Given the description of an element on the screen output the (x, y) to click on. 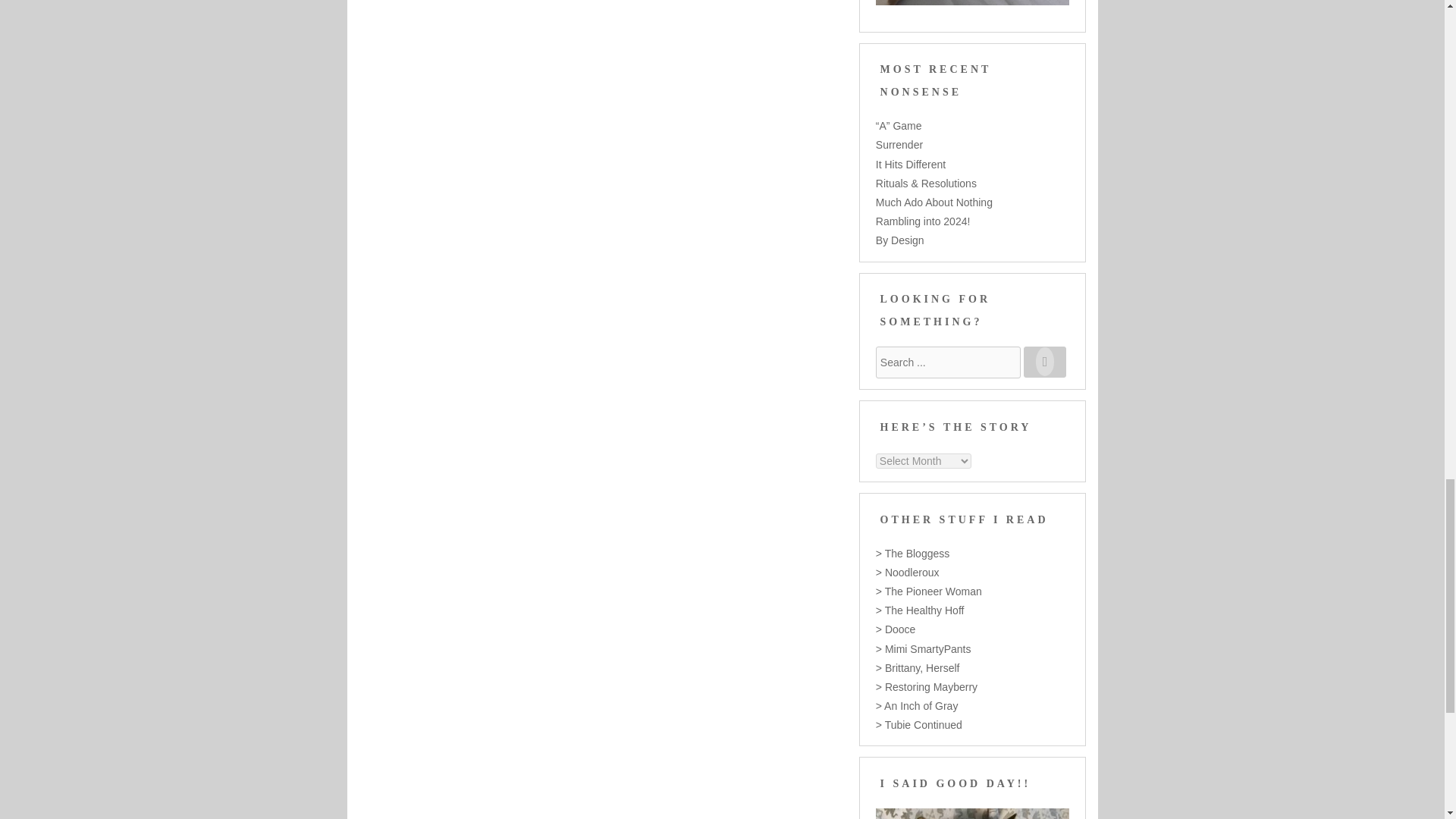
Surrender (899, 144)
It Hits Different (910, 164)
Much Ado About Nothing (934, 202)
Rambling into 2024! (923, 221)
By Design (900, 240)
